Given the description of an element on the screen output the (x, y) to click on. 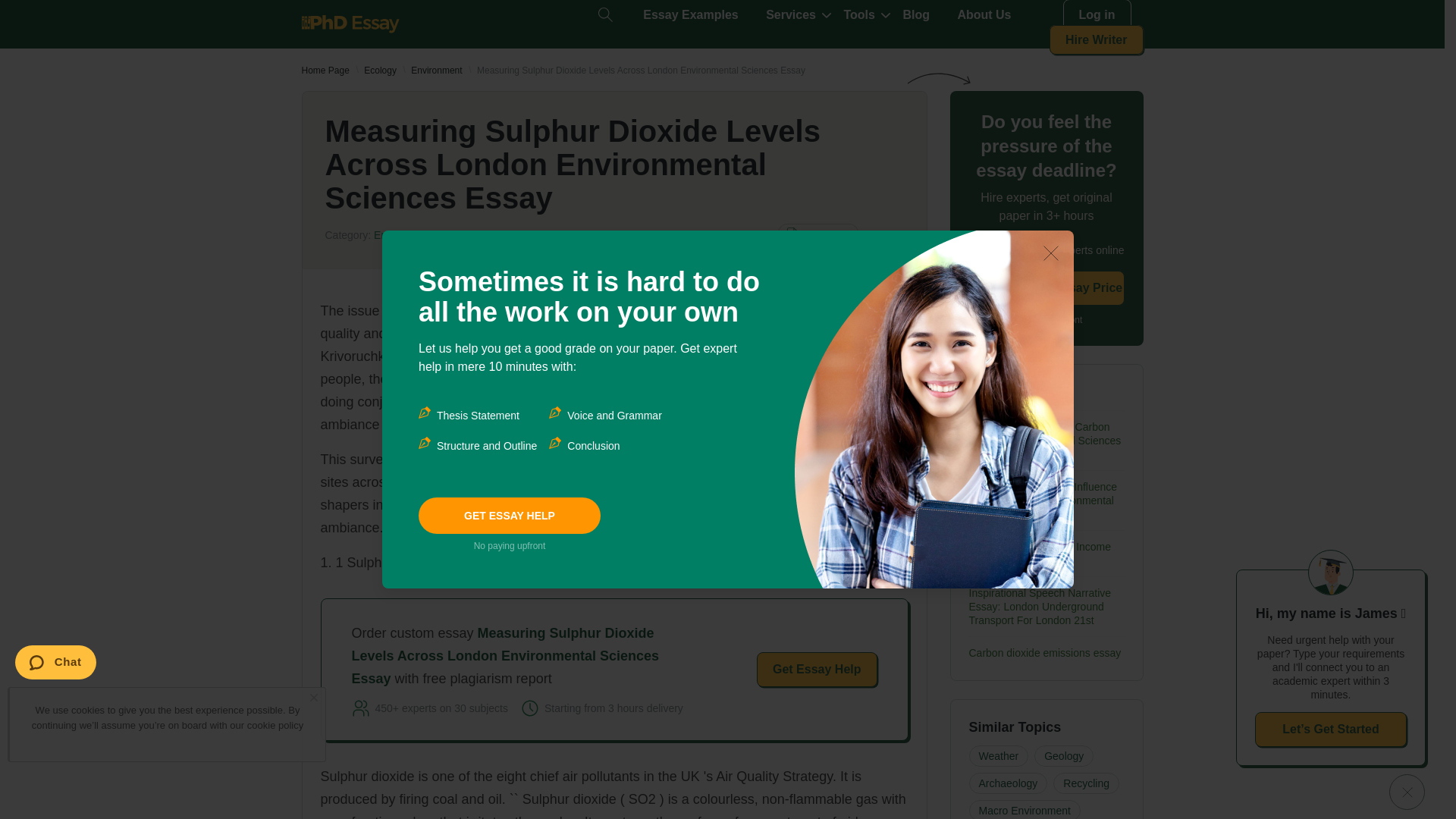
Get Essay Help (817, 669)
Essay Examples (690, 15)
Tools (859, 15)
Ecology (380, 70)
GET ESSAY HELP (509, 515)
Environment (435, 70)
Download (817, 234)
Home Page (325, 70)
Services (790, 15)
Log in (1096, 15)
About Us (983, 15)
Hire Writer (1095, 39)
Blog (916, 15)
